Given the description of an element on the screen output the (x, y) to click on. 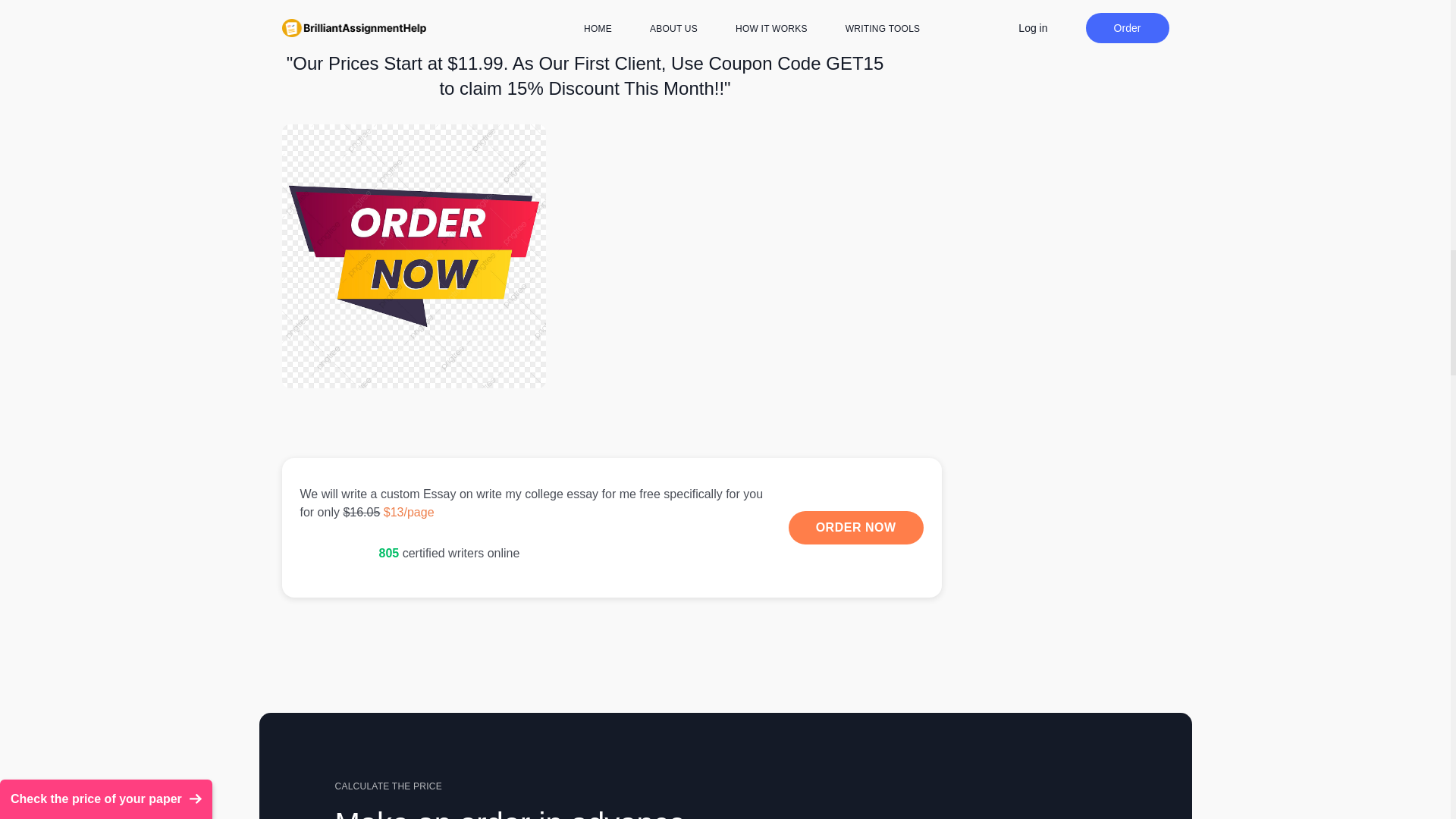
Learn More (856, 527)
Learn More (612, 527)
Check the price of your paper (106, 732)
Check the price of your paper (106, 732)
